Given the description of an element on the screen output the (x, y) to click on. 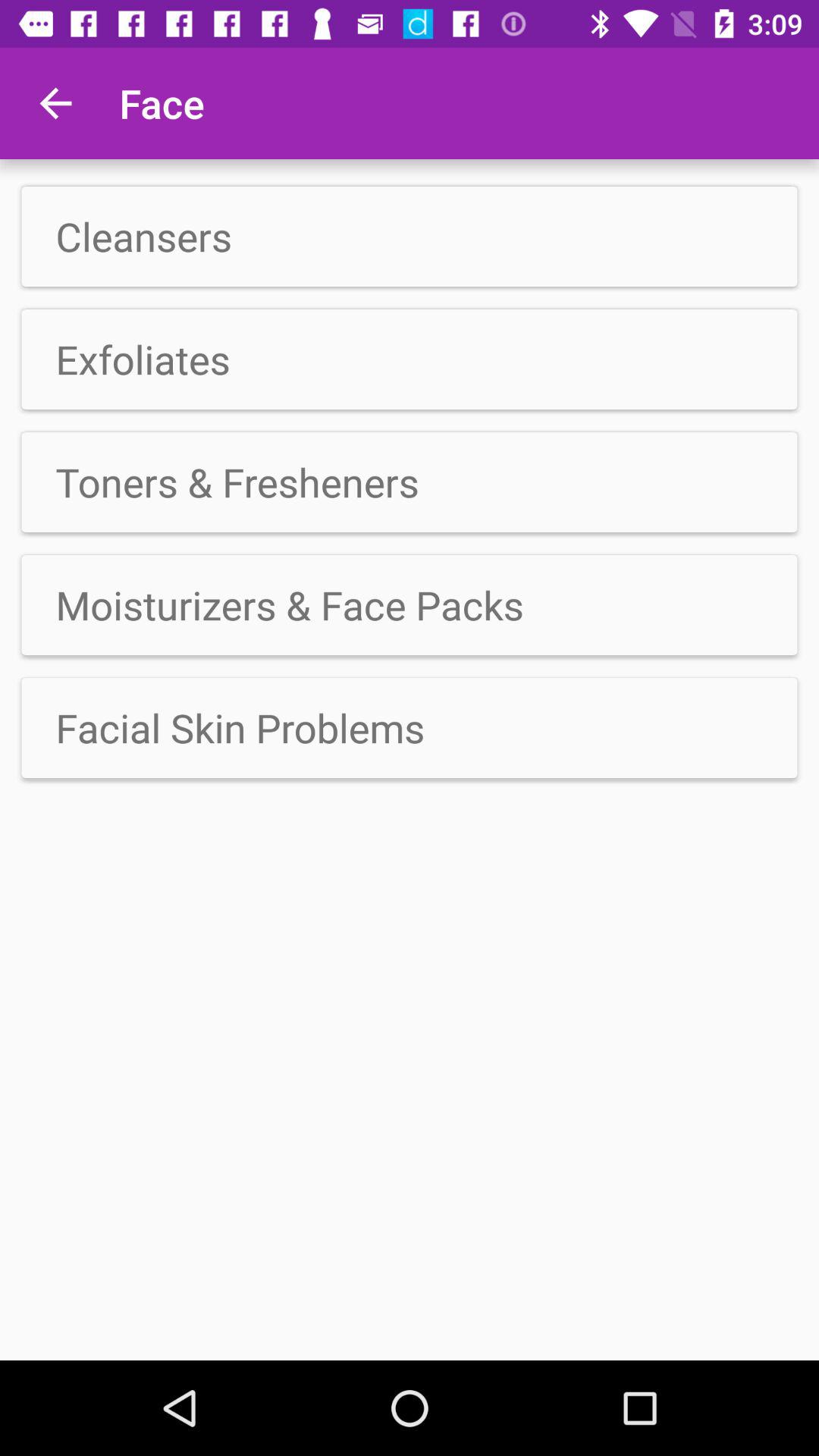
tap the app below cleansers item (409, 359)
